Given the description of an element on the screen output the (x, y) to click on. 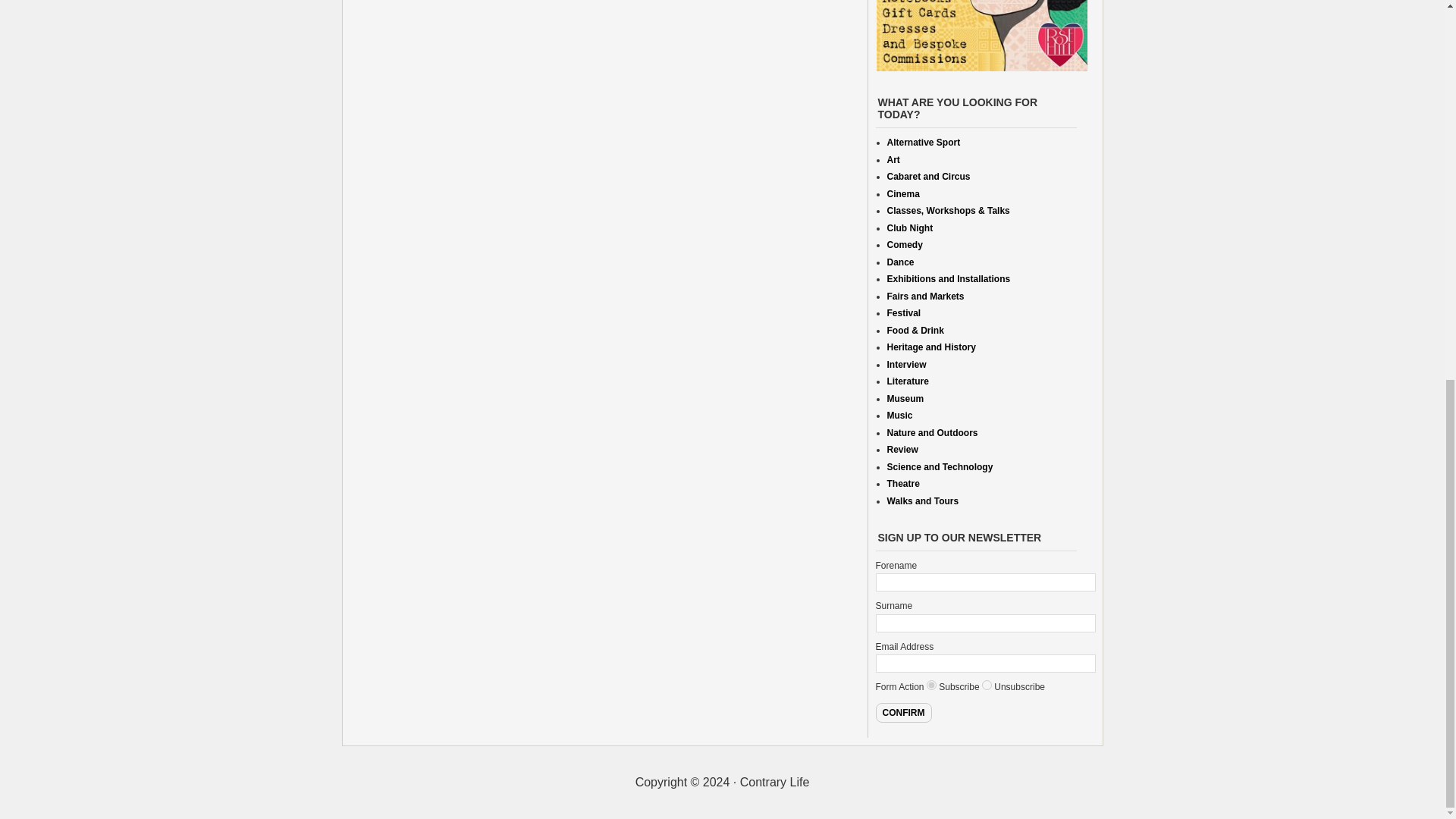
subscribe (931, 685)
Confirm (903, 712)
unsubscribe (986, 685)
